Given the description of an element on the screen output the (x, y) to click on. 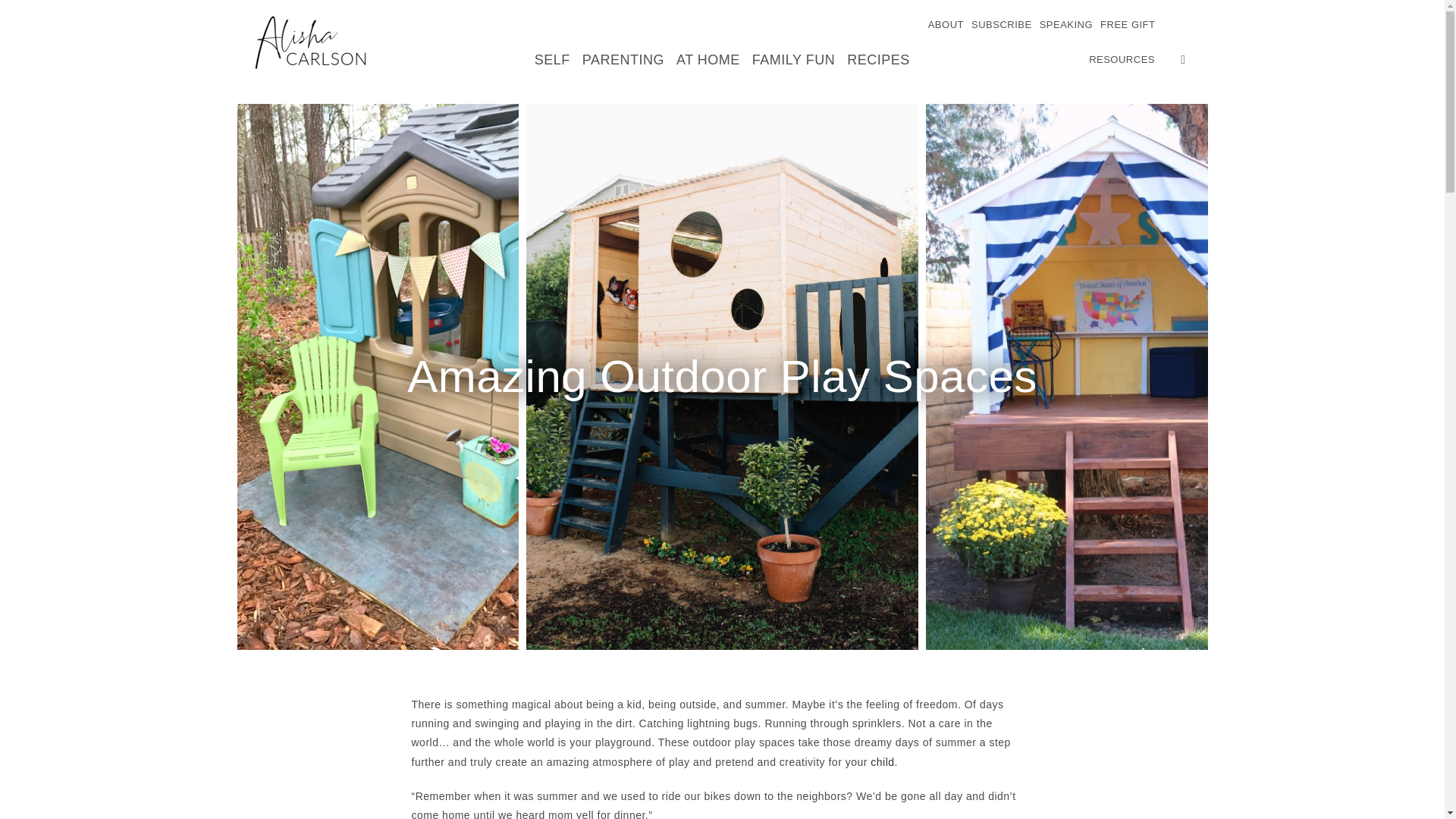
FAMILY FUN (793, 59)
SELF (552, 59)
AT HOME (707, 59)
FREE GIFT (1127, 24)
ABOUT (946, 24)
RECIPES (878, 59)
SPEAKING (1065, 24)
RESOURCES (1121, 59)
PARENTING (622, 59)
SUBSCRIBE (1001, 24)
